Given the description of an element on the screen output the (x, y) to click on. 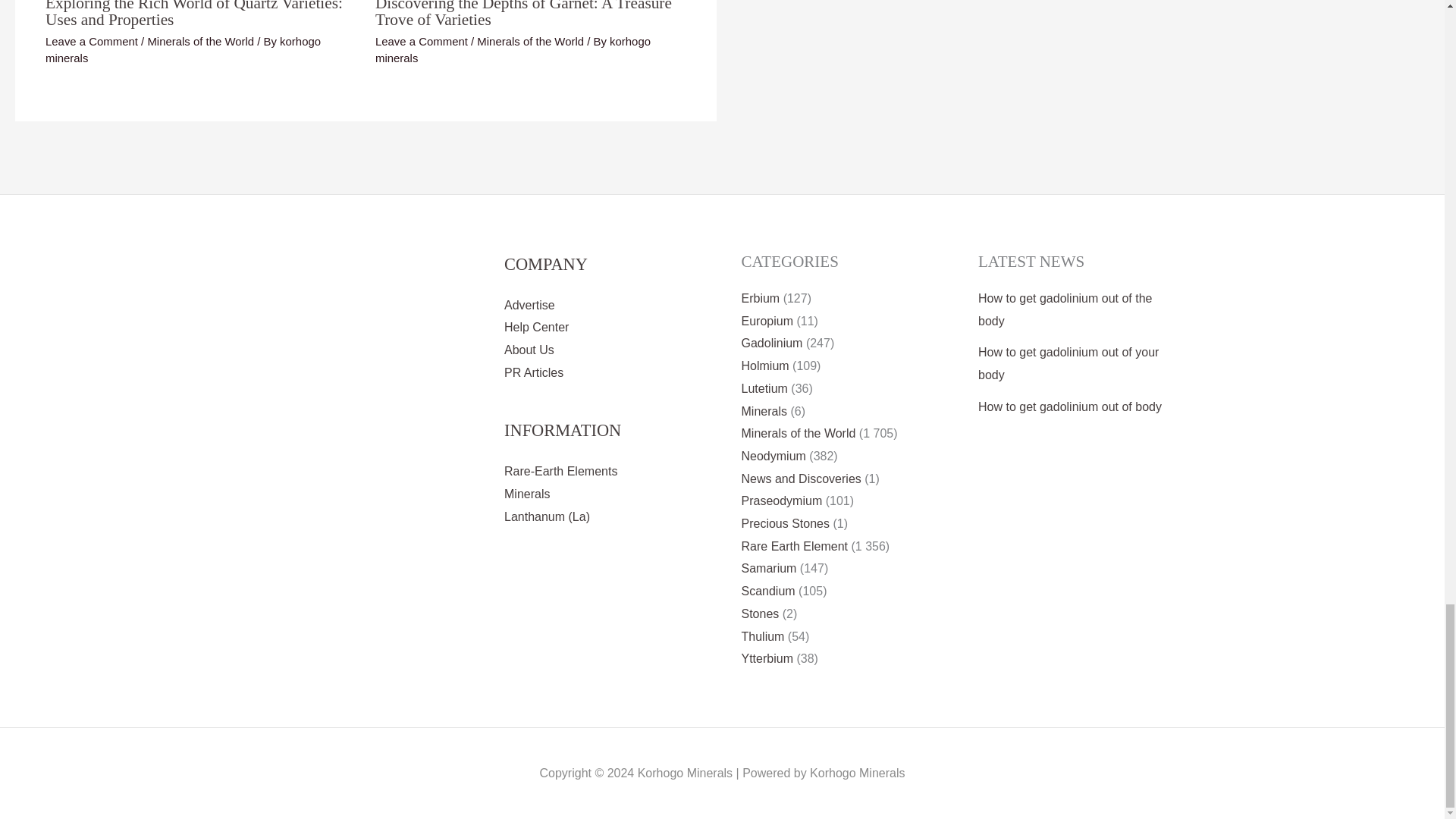
Leave a Comment (91, 41)
korhogo minerals (512, 49)
Leave a Comment (421, 41)
korhogo minerals (182, 49)
Minerals of the World (200, 41)
View all posts by korhogo minerals (512, 49)
View all posts by korhogo minerals (182, 49)
Minerals of the World (530, 41)
